Given the description of an element on the screen output the (x, y) to click on. 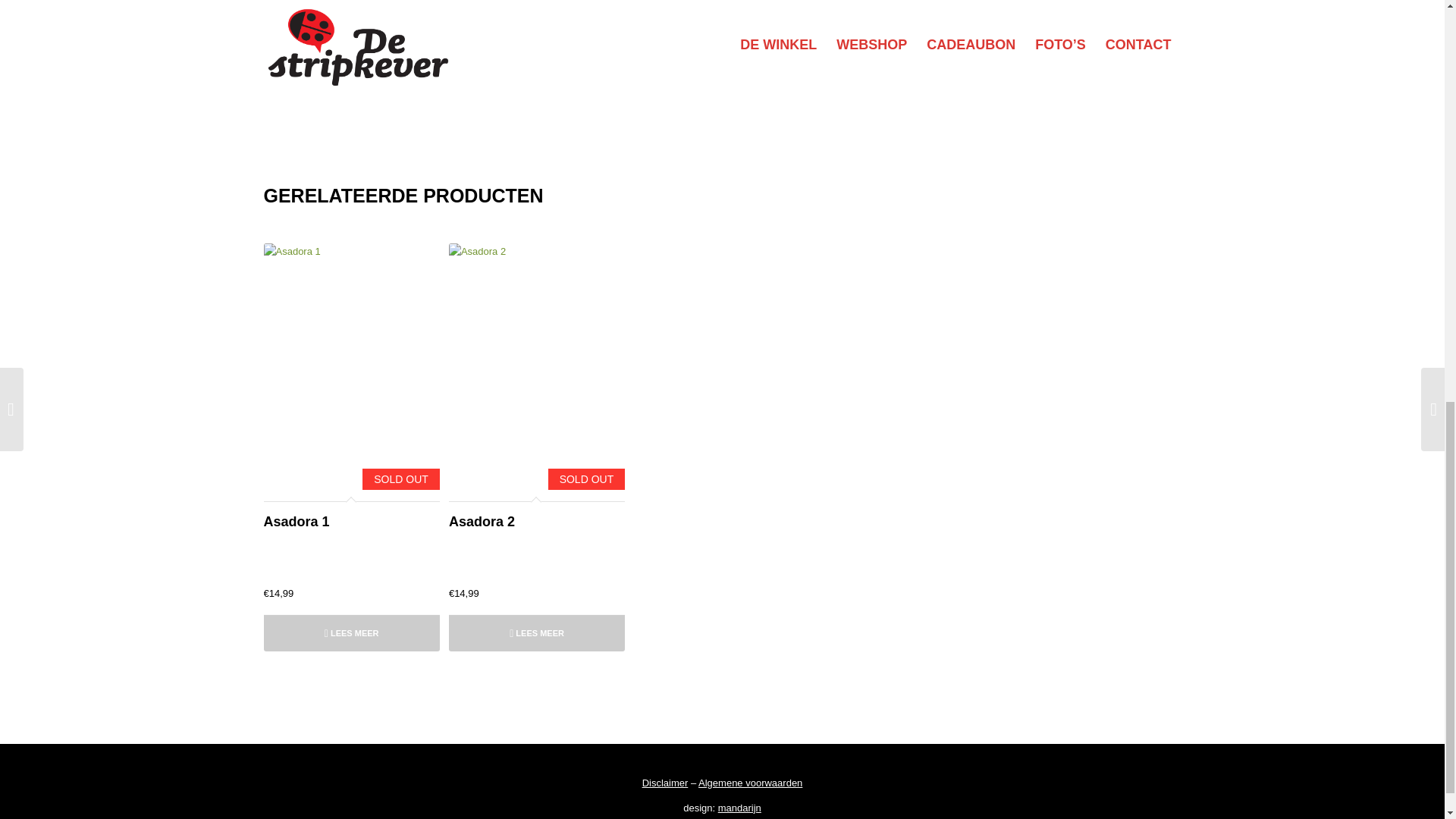
Dieren (280, 2)
Geschiedenis (438, 2)
image (314, 13)
jeugd (346, 13)
Dupuis (349, 2)
Fantasy (389, 2)
Klassieker (387, 13)
Humor (281, 13)
historisch (491, 2)
Drama (315, 2)
